Given the description of an element on the screen output the (x, y) to click on. 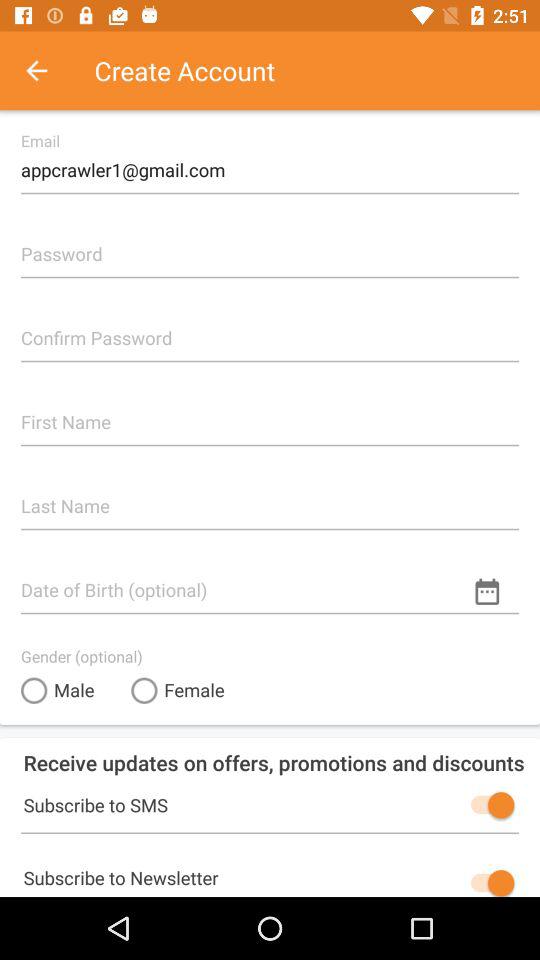
swipe until the appcrawler1@gmail.com item (270, 161)
